Given the description of an element on the screen output the (x, y) to click on. 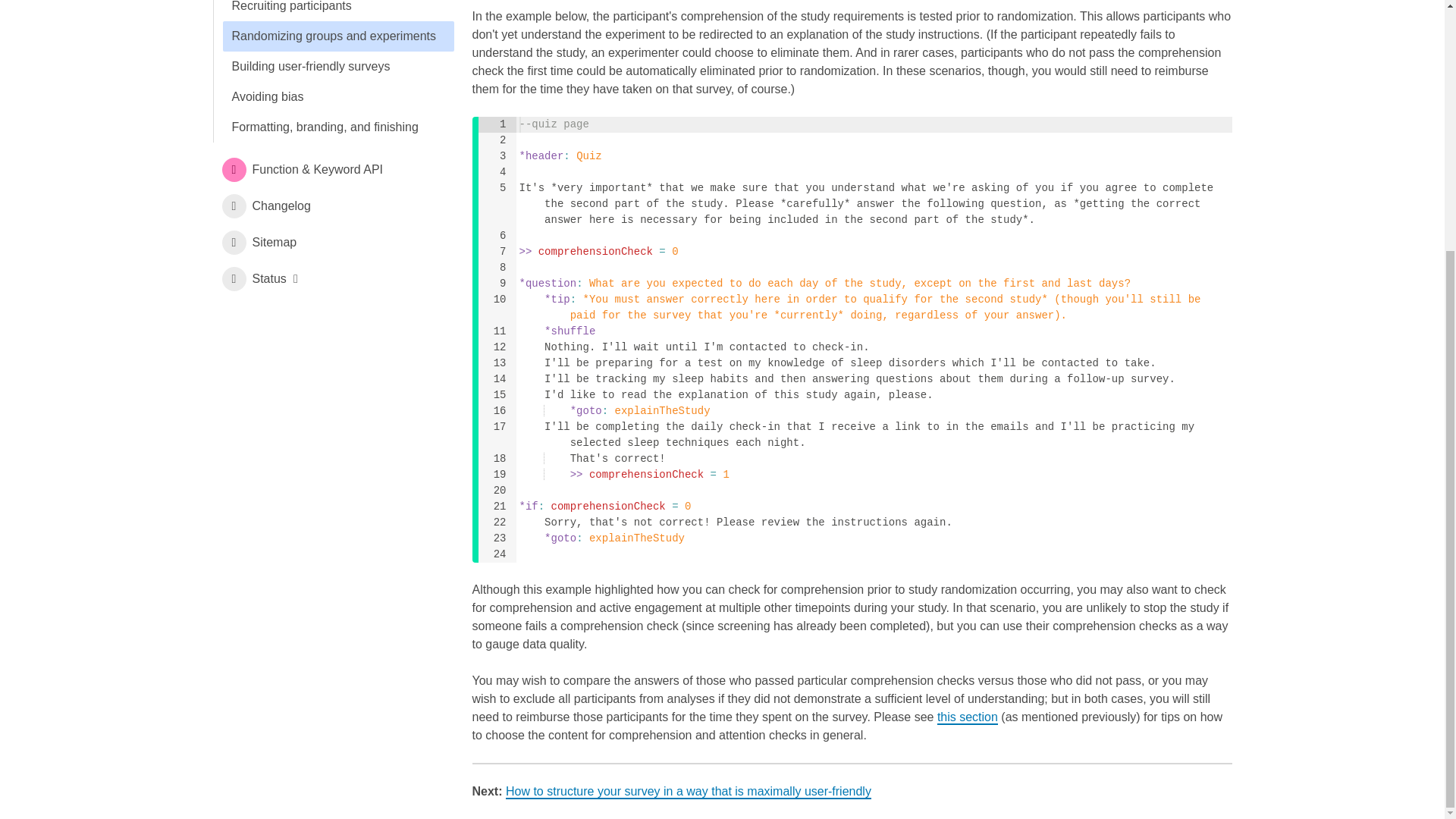
Changelog (332, 206)
Building user-friendly surveys (338, 66)
this section (967, 717)
Recruiting participants (338, 10)
Sitemap (332, 242)
Formatting, branding, and finishing (338, 127)
Randomizing groups and experiments (338, 36)
Status (332, 279)
Avoiding bias (338, 96)
